Given the description of an element on the screen output the (x, y) to click on. 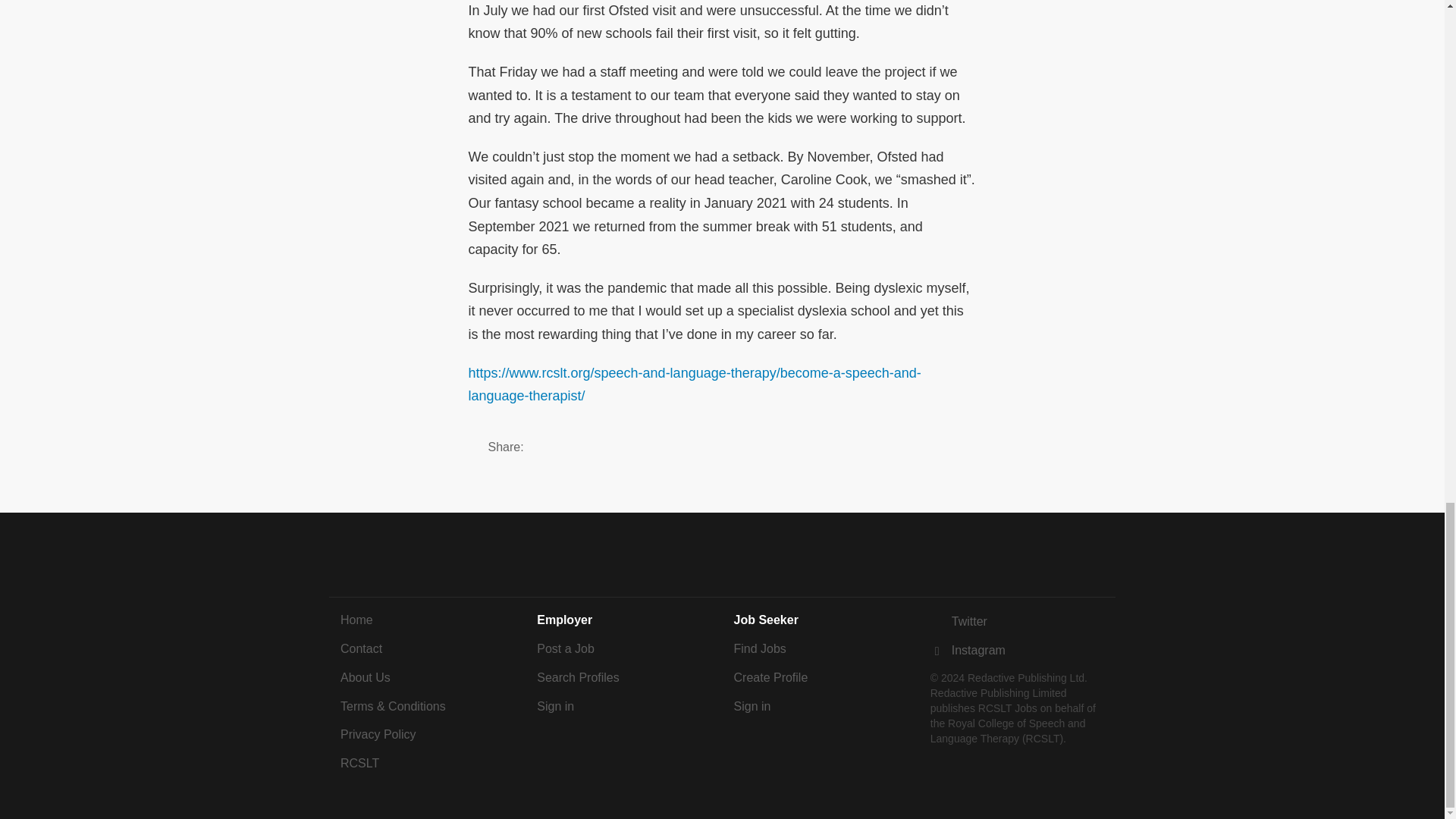
Instagram (968, 649)
Sign in (555, 706)
Find Jobs (759, 648)
Contact (360, 648)
Twitter (958, 621)
RCSLT (359, 762)
Post a Job (565, 648)
Sign in (752, 706)
About Us (365, 676)
Home (356, 619)
